Given the description of an element on the screen output the (x, y) to click on. 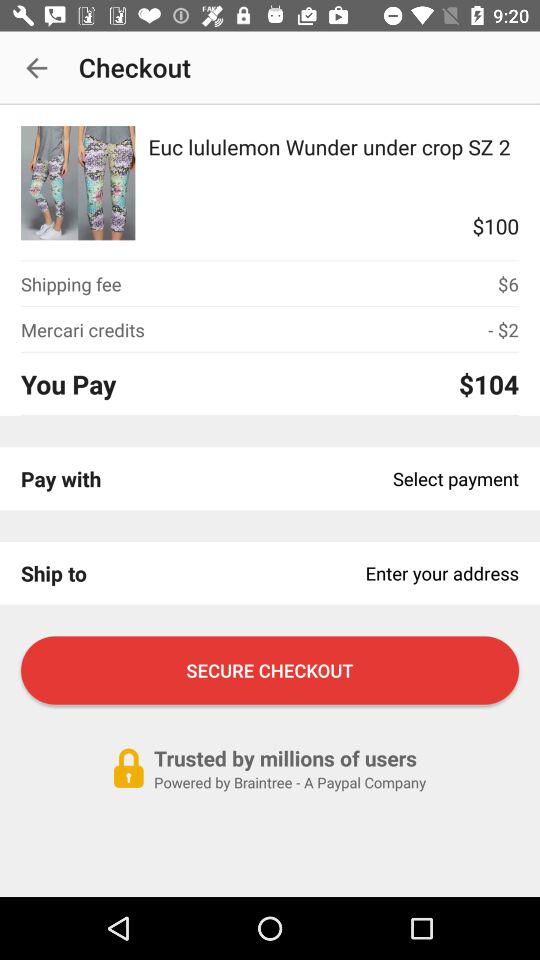
tap the item next to checkout item (36, 67)
